Given the description of an element on the screen output the (x, y) to click on. 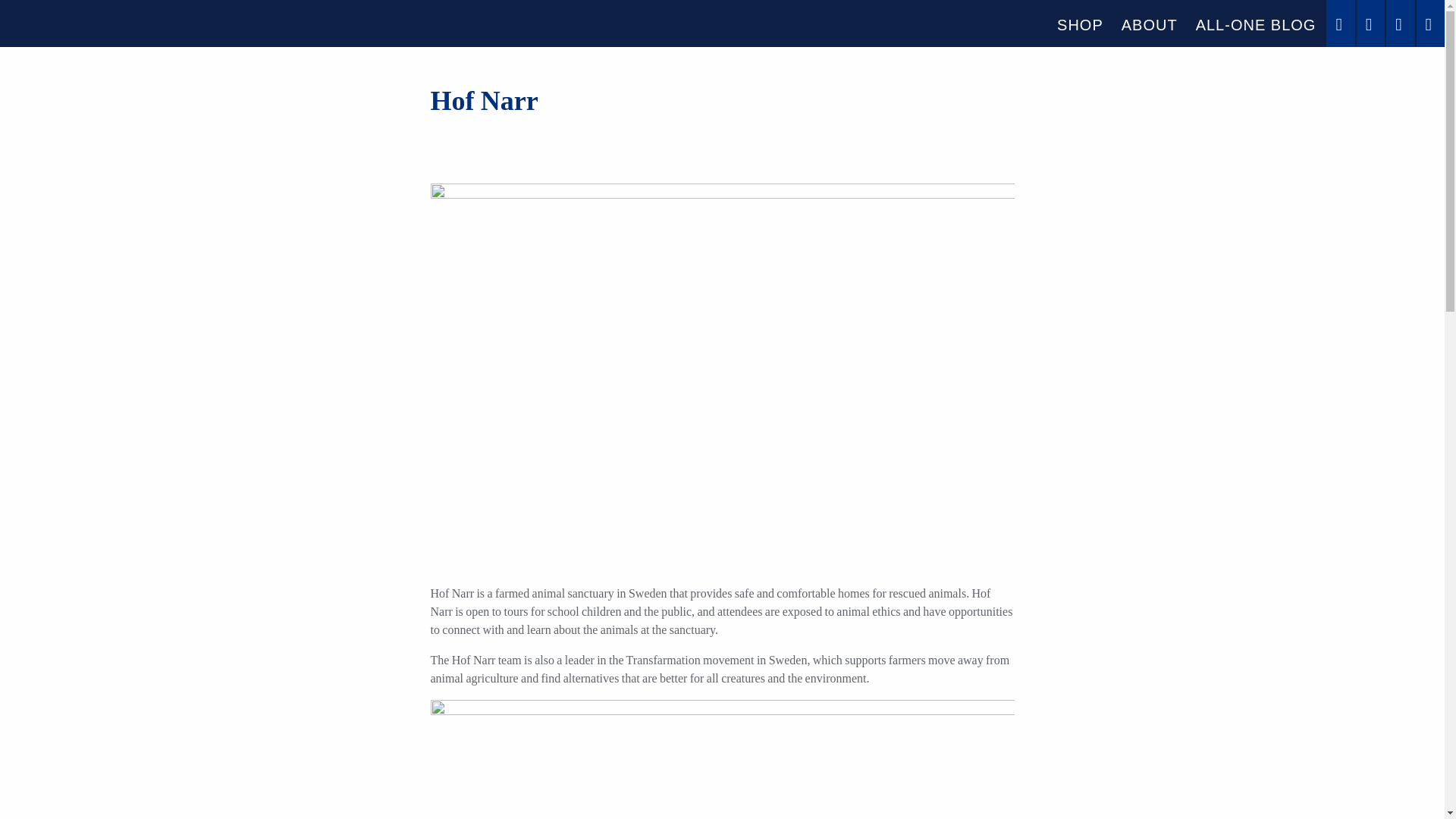
SEARCH (1340, 23)
ALL-ONE BLOG (1255, 23)
SHOP (1080, 23)
ABOUT (1149, 23)
CART (1370, 23)
MY ACCOUNT (1399, 23)
Homepage (112, 22)
